Given the description of an element on the screen output the (x, y) to click on. 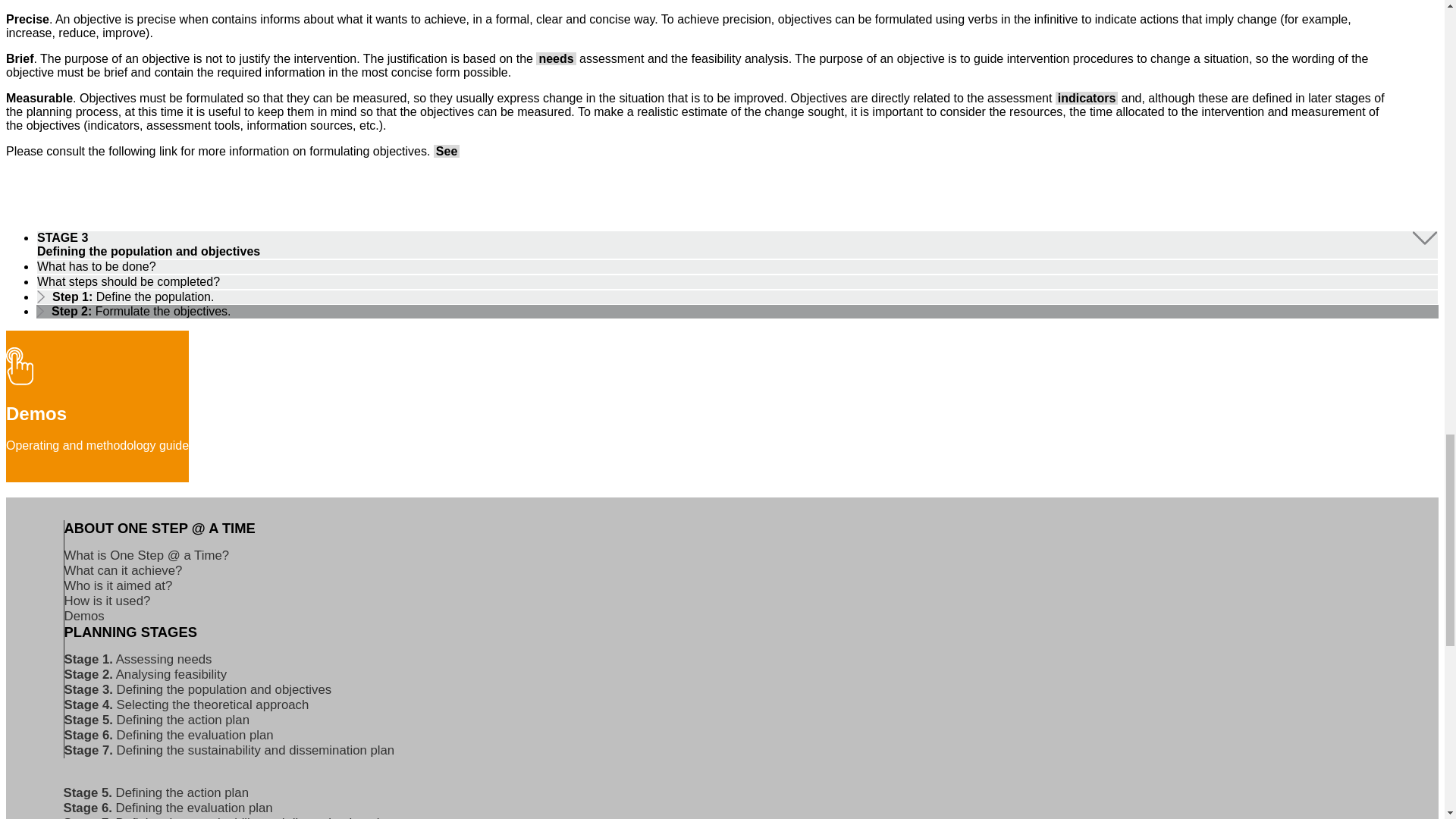
needs (555, 58)
